Given the description of an element on the screen output the (x, y) to click on. 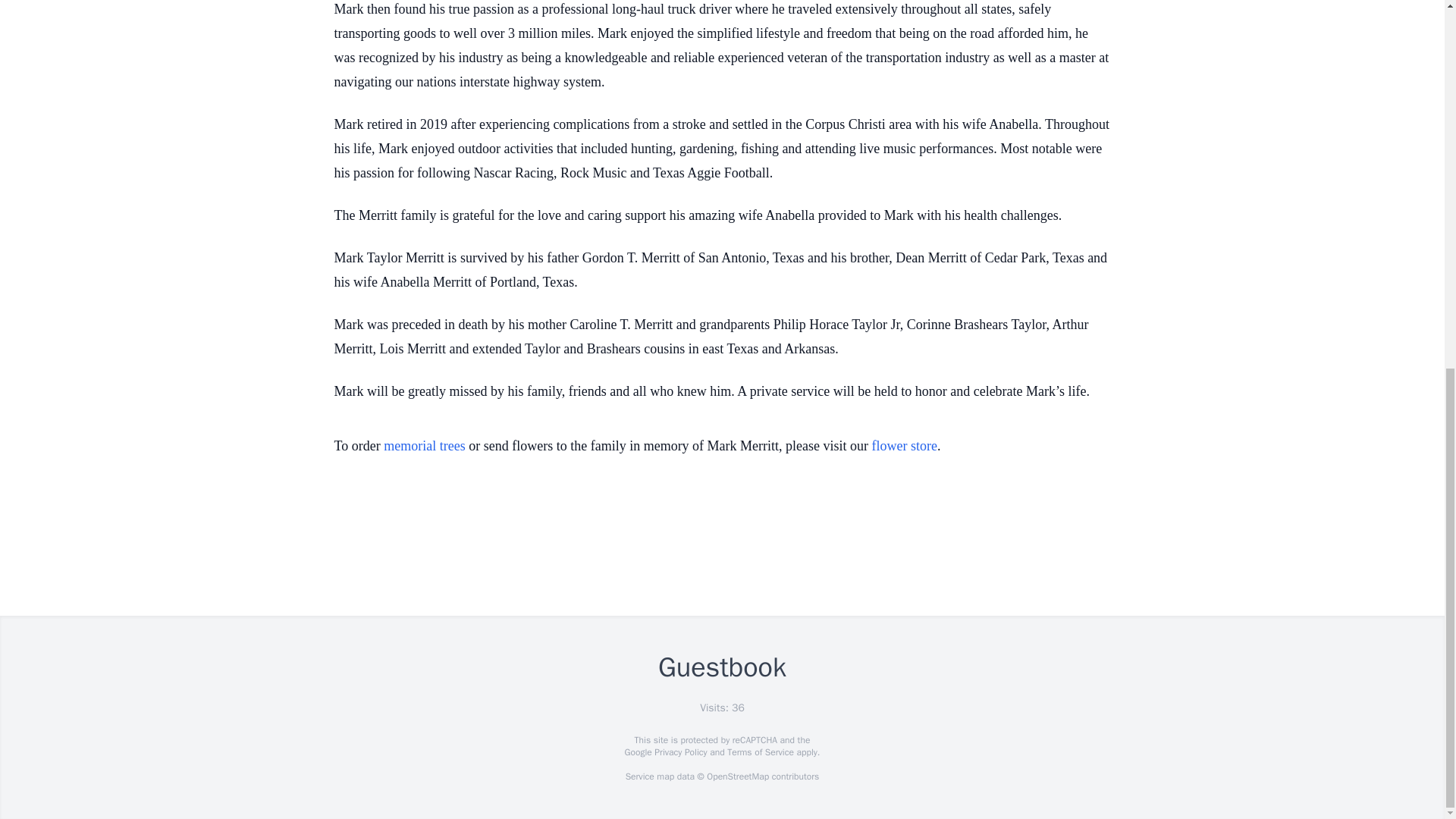
Terms of Service (759, 752)
Privacy Policy (679, 752)
flower store (904, 445)
OpenStreetMap (737, 776)
memorial trees (424, 445)
